Given the description of an element on the screen output the (x, y) to click on. 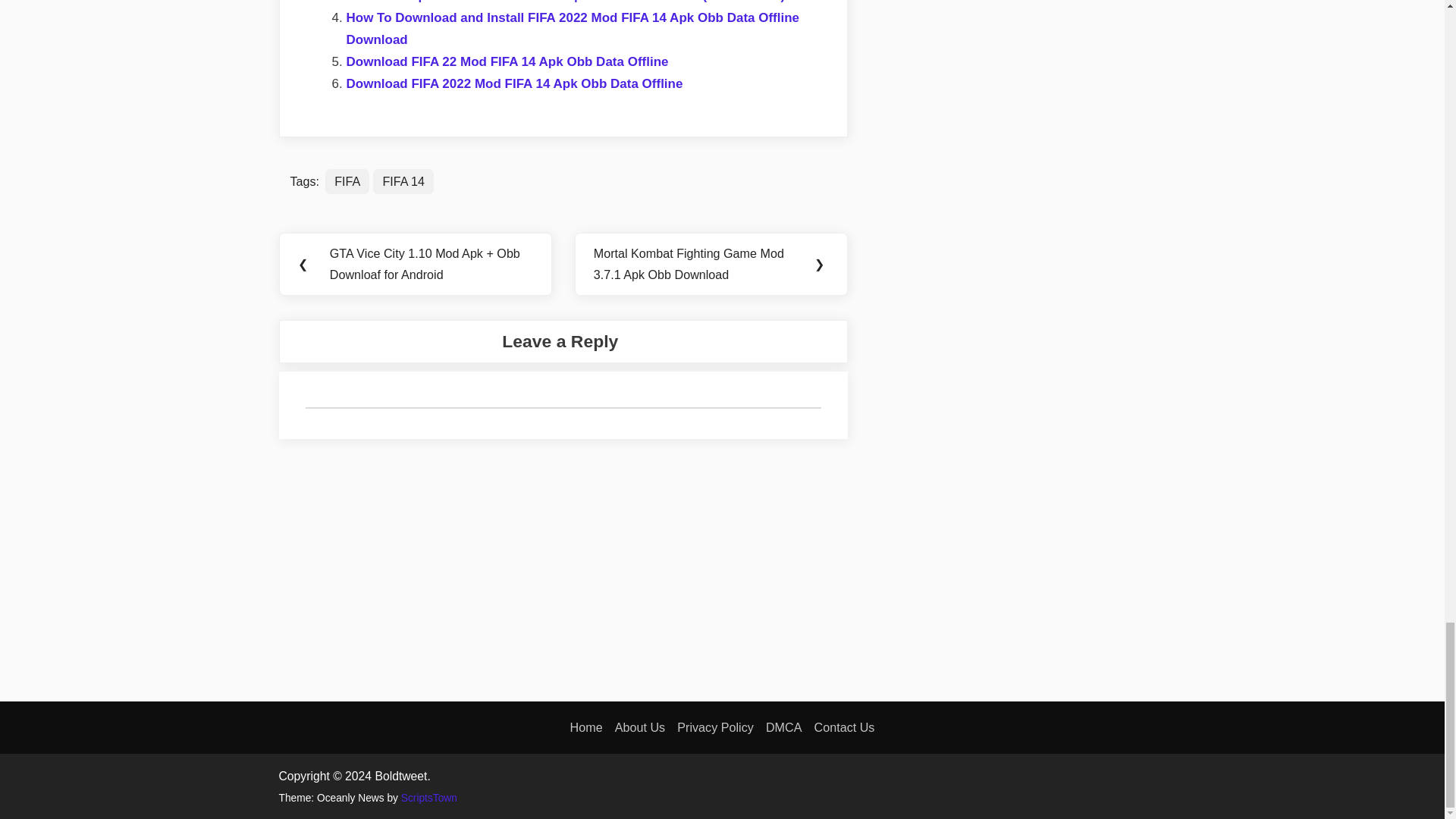
Download FIFA 2022 Mod FIFA 14 Apk Obb Data Offline (514, 83)
Download FIFA 22 Mod FIFA 14 Apk Obb Data Offline (507, 61)
